Given the description of an element on the screen output the (x, y) to click on. 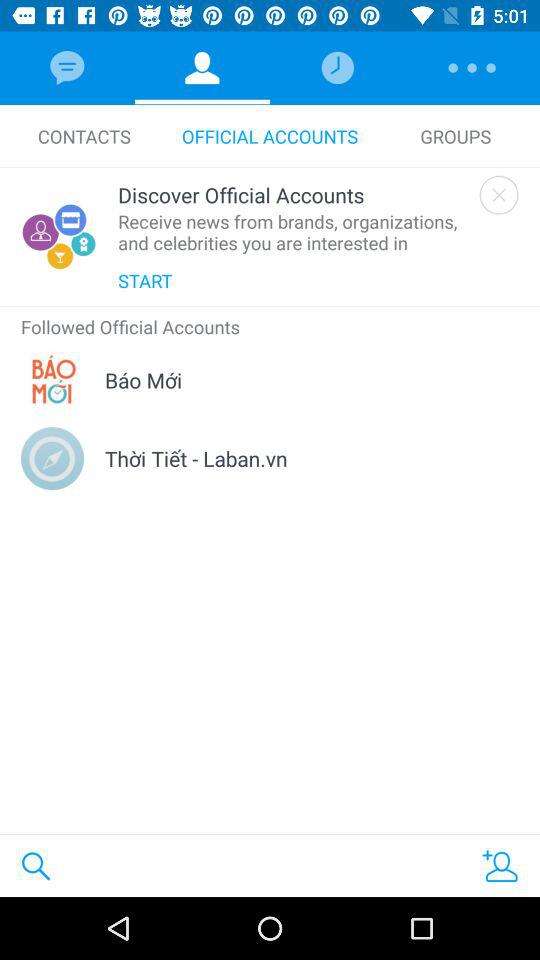
scroll to the receive news from icon (294, 232)
